Given the description of an element on the screen output the (x, y) to click on. 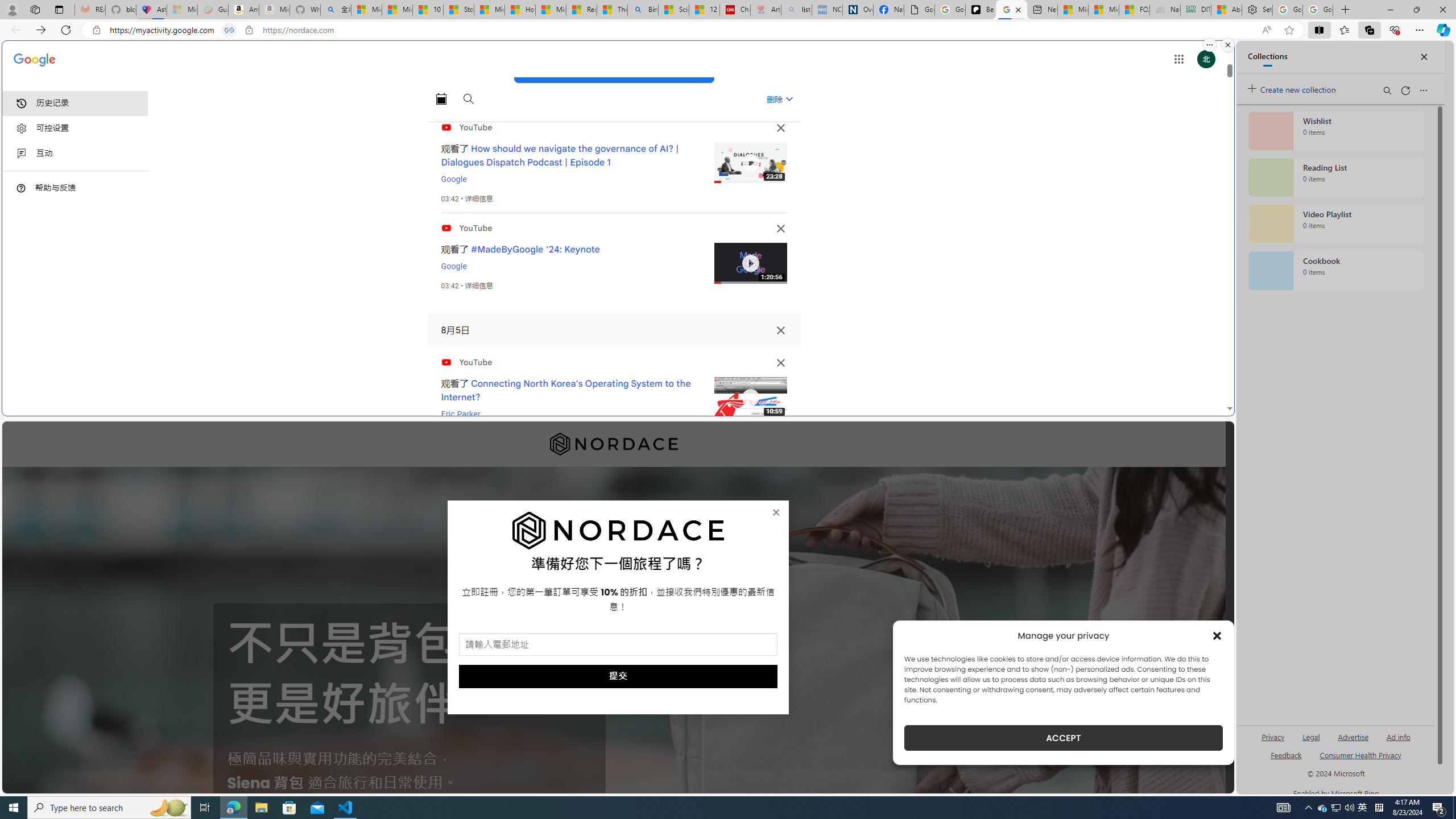
Class: asE2Ub NMm5M (788, 99)
Science - MSN (673, 9)
Eric Parker (460, 414)
AutomationID: genId96 (1285, 759)
Microsoft-Report a Concern to Bing - Sleeping (181, 9)
